Given the description of an element on the screen output the (x, y) to click on. 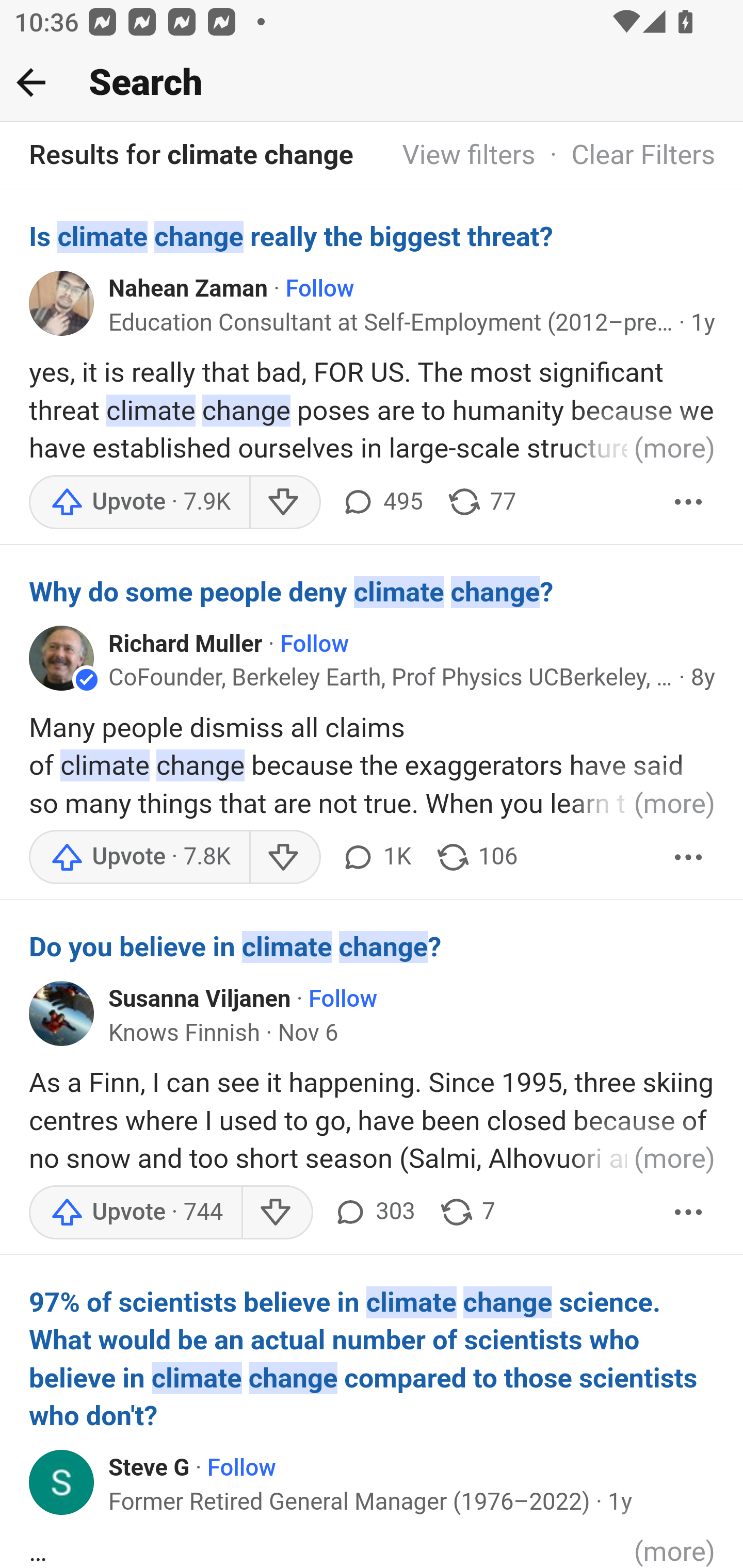
Back Search (371, 82)
Back (30, 82)
View filters (468, 155)
· Clear Filters · Clear Filters (625, 155)
Is climate change really the biggest threat? (372, 236)
Profile photo for Nahean Zaman (61, 302)
Nahean Zaman (188, 289)
Follow (320, 289)
1y 1 y (702, 322)
Upvote (138, 501)
Downvote (283, 501)
495 comments (380, 501)
77 shares (480, 501)
More (688, 501)
Why do some people deny climate change? (372, 592)
Richard Muller (185, 644)
Follow (314, 644)
8y 8 y (702, 677)
Upvote (138, 856)
Downvote (283, 856)
1,021 comments (374, 856)
106 shares (476, 856)
More (688, 856)
Do you believe in climate change? (372, 946)
Profile photo for Susanna Viljanen (61, 1011)
Susanna Viljanen (200, 1000)
Follow (342, 1000)
Nov 6 (307, 1033)
Upvote (135, 1211)
Downvote (277, 1211)
303 comments (373, 1211)
7 shares (466, 1211)
More (688, 1211)
Profile photo for Steve G (61, 1481)
Steve G (149, 1468)
Follow (241, 1468)
1y 1 y (620, 1501)
… (more) (372, 1549)
